Given the description of an element on the screen output the (x, y) to click on. 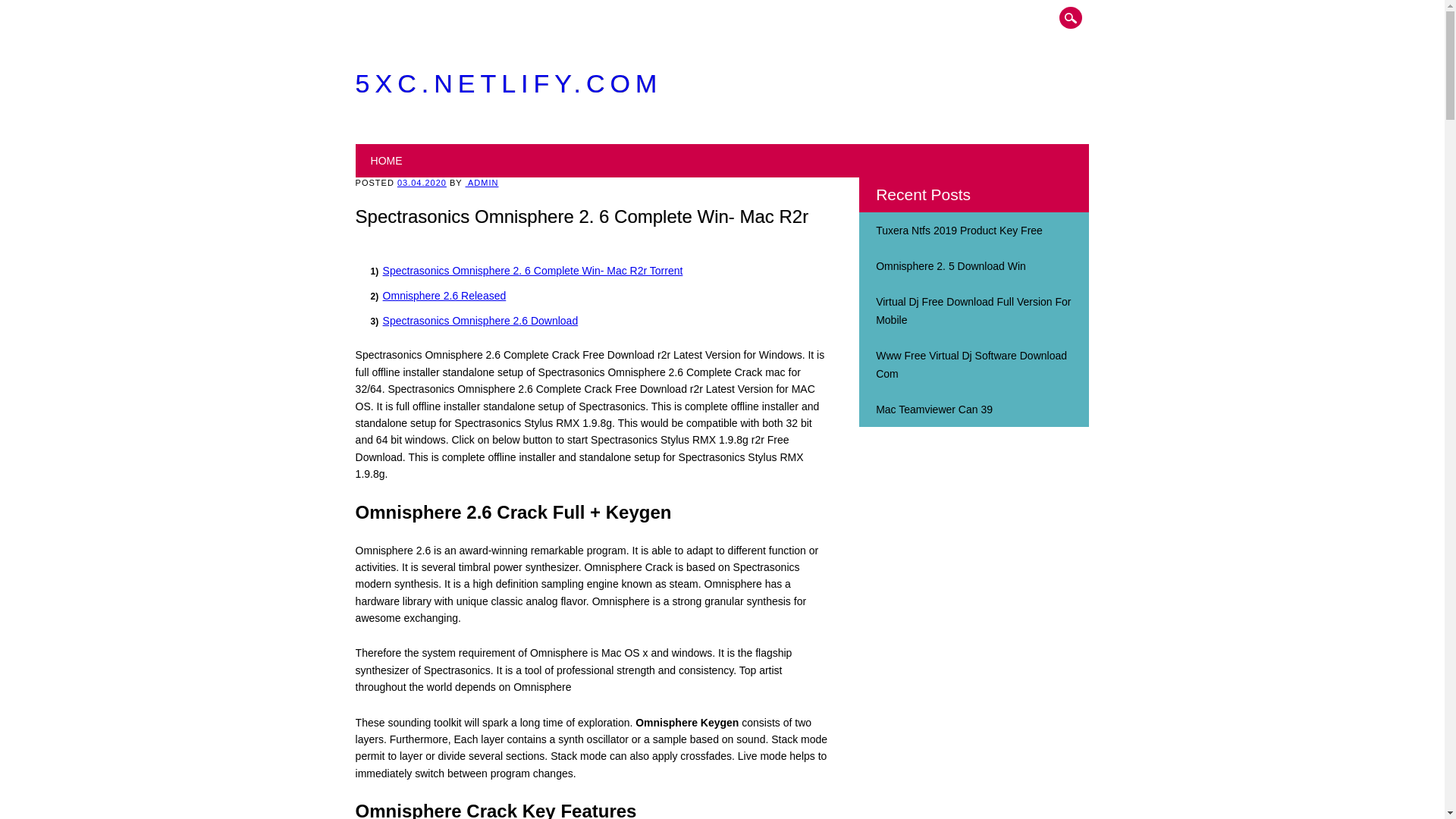
03.04.2020 (421, 182)
Look Spectrasonics Omnisphere 2. 6 Complete Win- Mac R2r (934, 409)
Spectrasonics Omnisphere 2.6 Download (480, 320)
5XC.NETLIFY.COM (508, 82)
Mac Teamviewer Can 39 (934, 409)
HOME (386, 160)
View all posts by admin (482, 182)
11:01 (421, 182)
Omnisphere 2.6 Released (444, 295)
Omnisphere 2. 5 Download Win (951, 265)
